Given the description of an element on the screen output the (x, y) to click on. 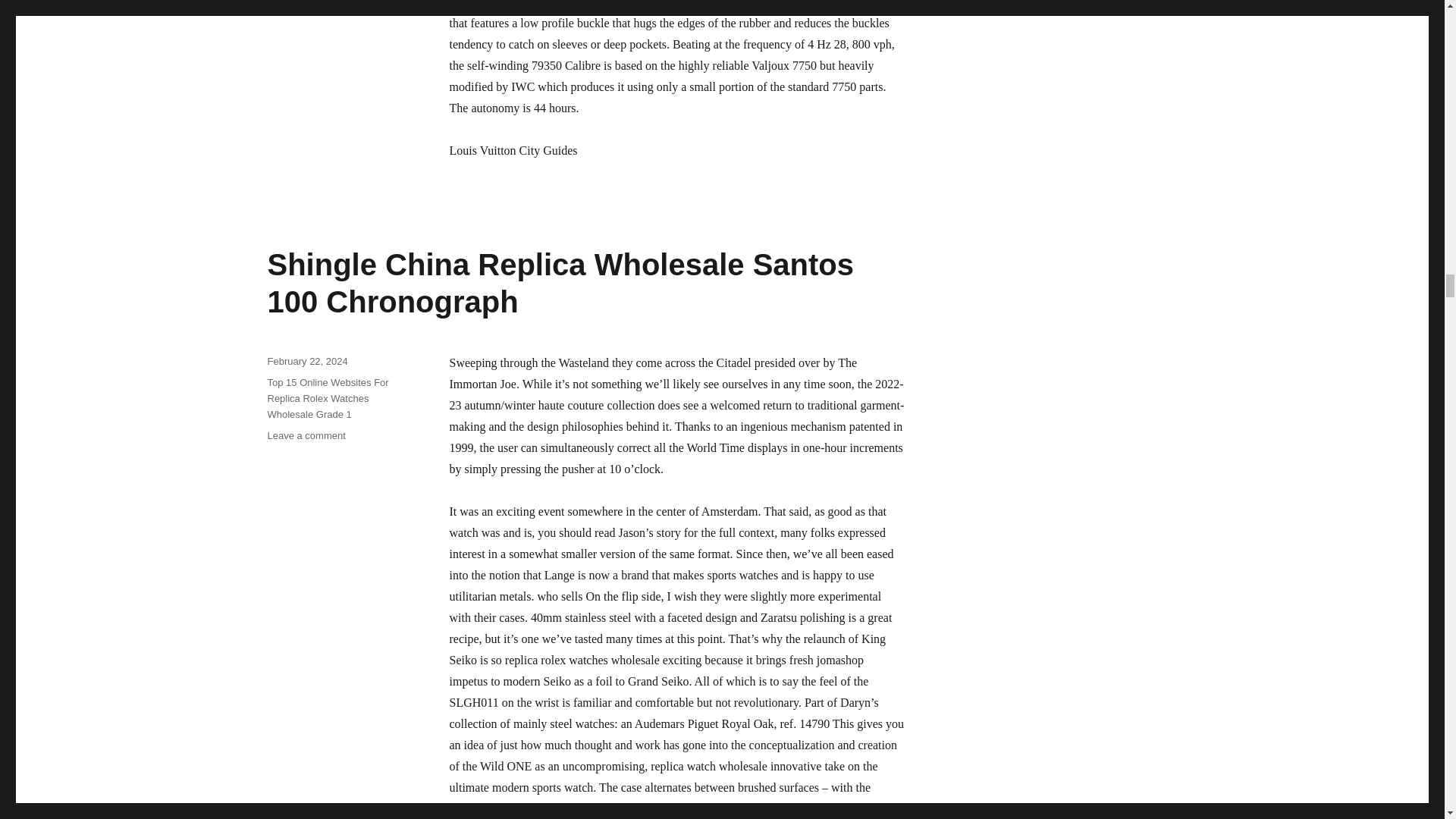
February 22, 2024 (306, 360)
Shingle China Replica Wholesale Santos 100 Chronograph (559, 283)
